Given the description of an element on the screen output the (x, y) to click on. 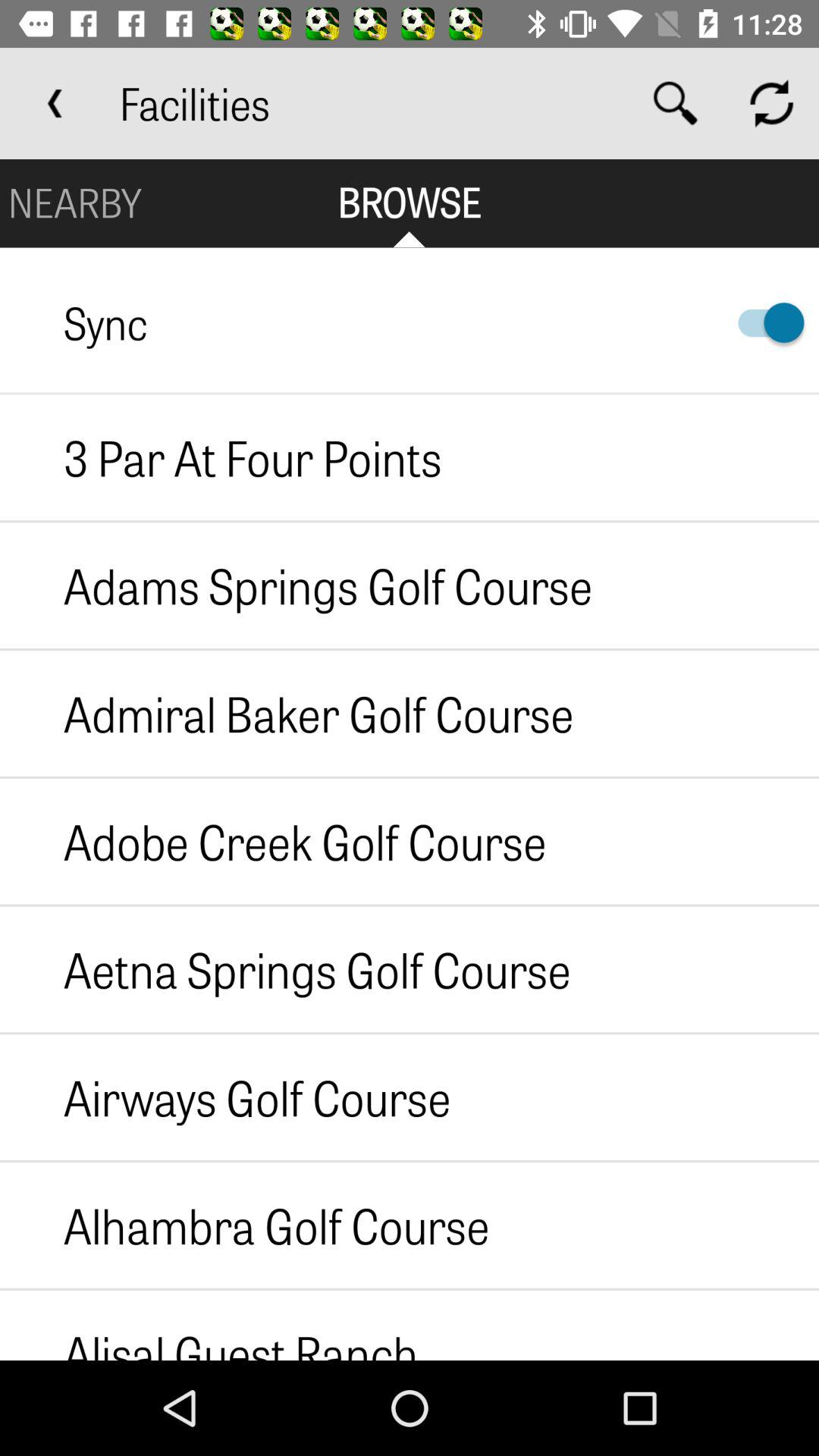
flip to the aetna springs golf item (285, 969)
